Given the description of an element on the screen output the (x, y) to click on. 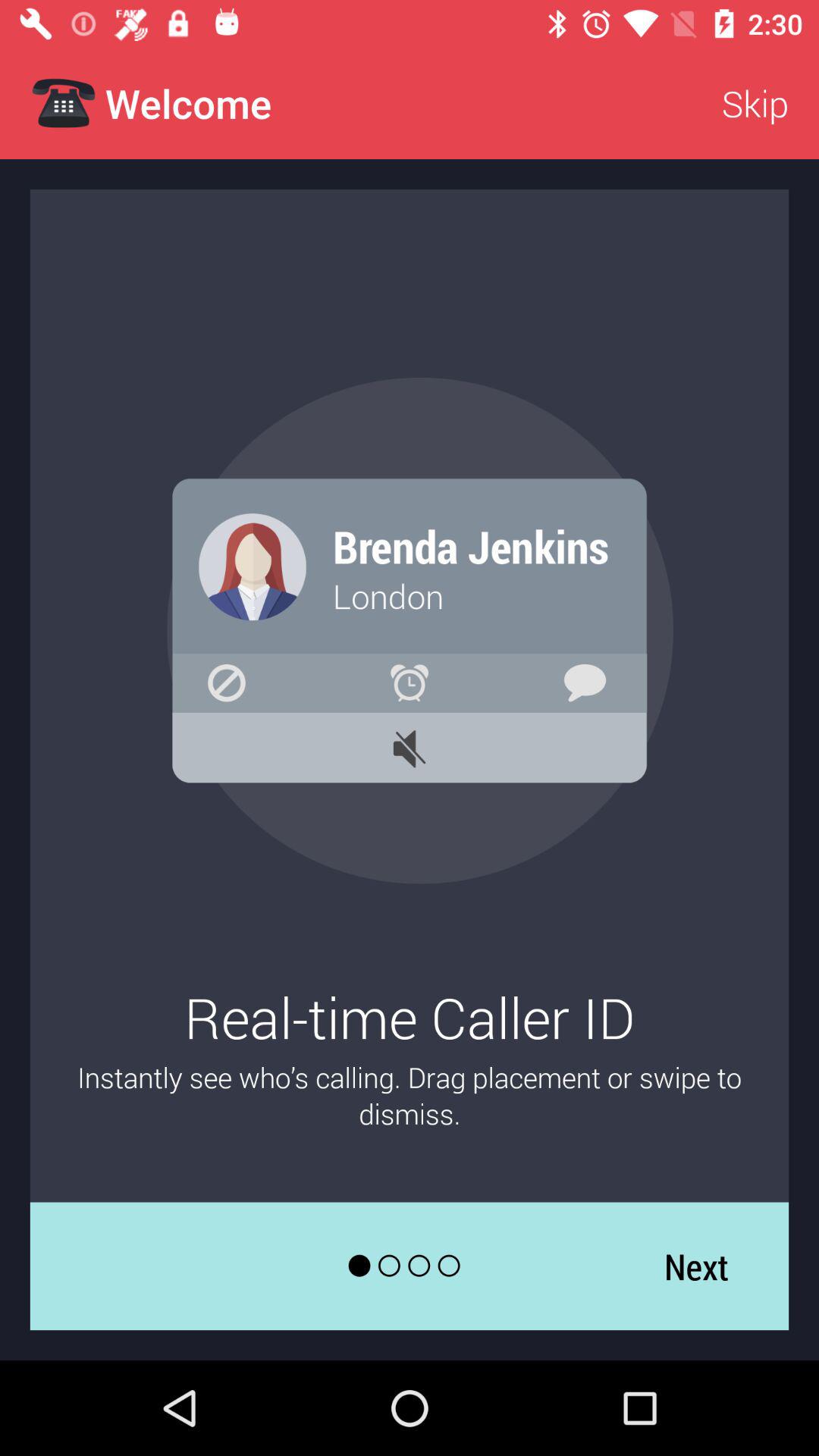
scroll to skip item (755, 103)
